Given the description of an element on the screen output the (x, y) to click on. 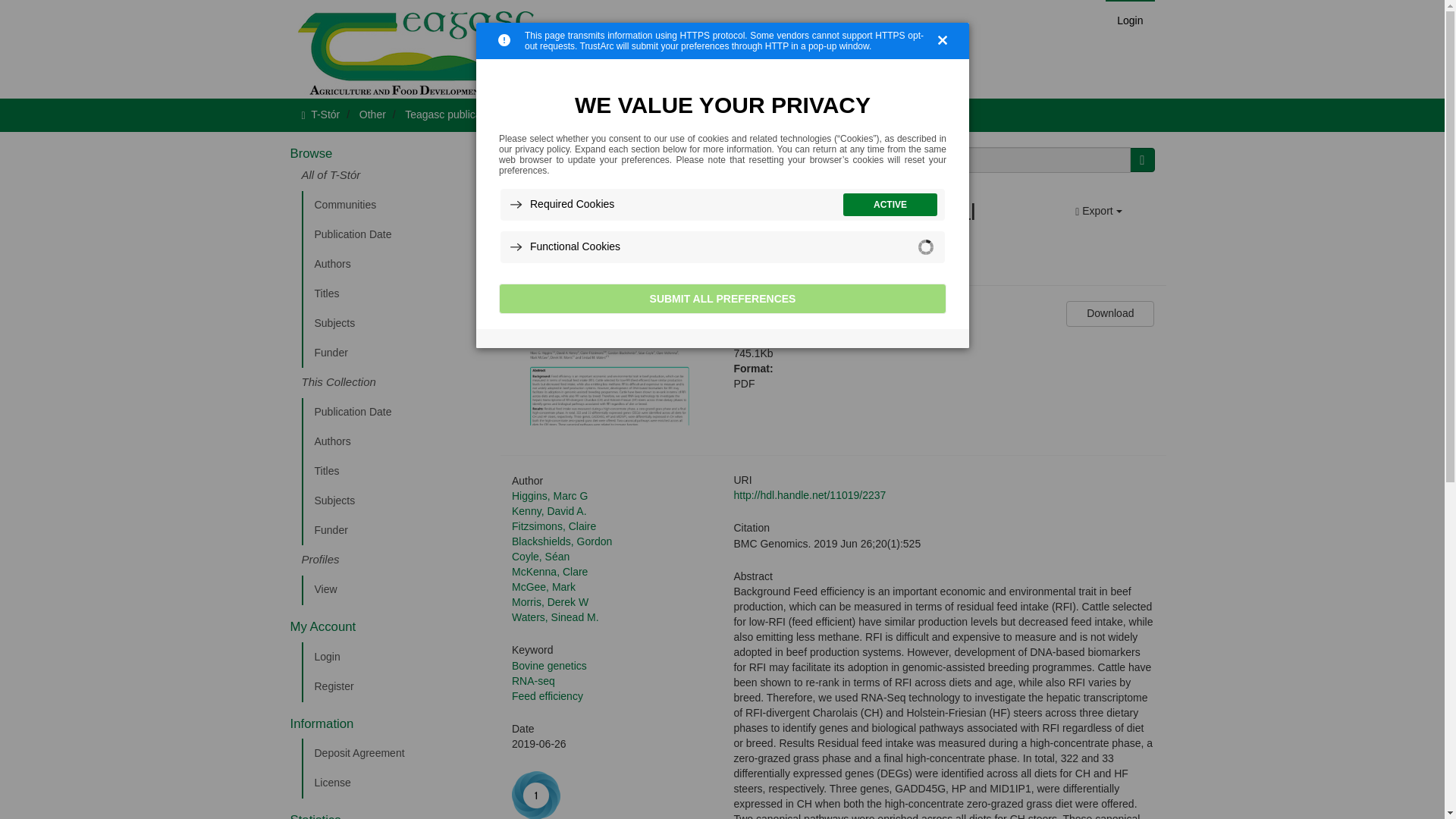
Communities (395, 205)
Login (395, 657)
View (395, 589)
Titles (395, 294)
Login (1129, 19)
Other (372, 114)
Teagasc publications in Biomed Central (497, 114)
Publication Date (395, 412)
Go (1141, 159)
Funder (395, 530)
Subjects (395, 501)
Authors (395, 264)
Profiles (395, 560)
Register (395, 686)
